Given the description of an element on the screen output the (x, y) to click on. 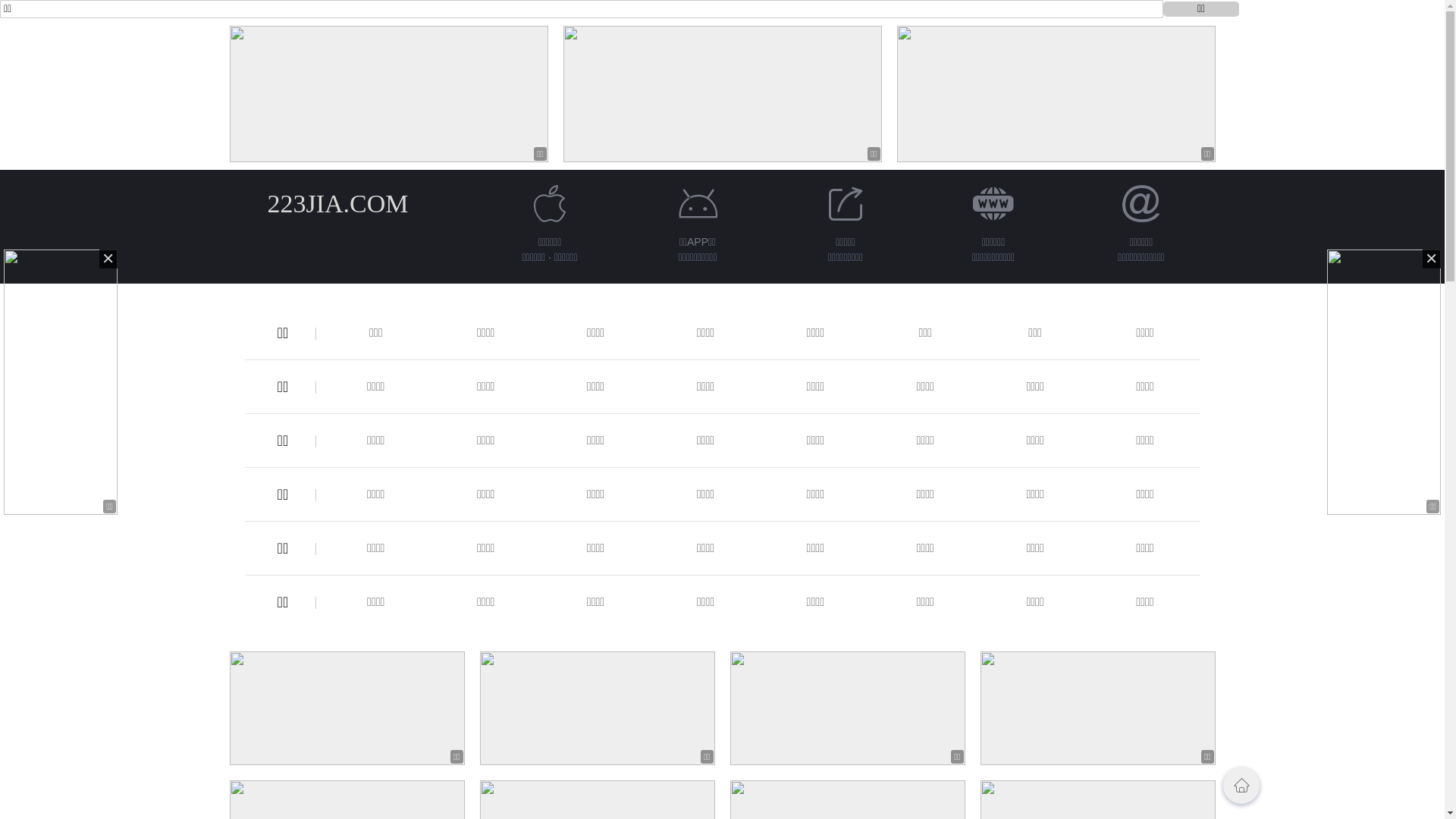
223JIA.COM Element type: text (336, 203)
